Given the description of an element on the screen output the (x, y) to click on. 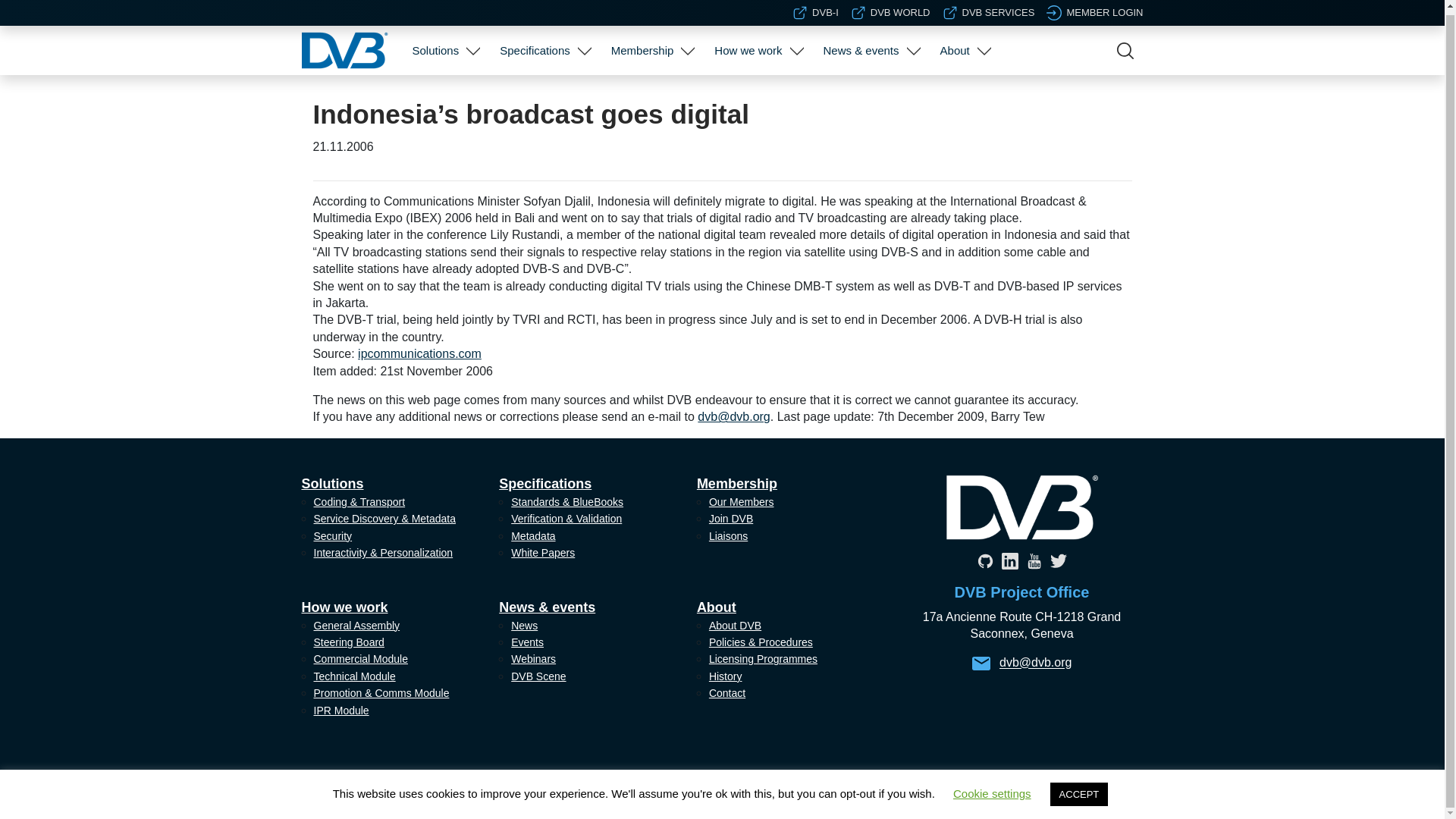
DVB WORLD (890, 8)
General Assembly (756, 92)
Solutions (435, 46)
Github Profile (984, 560)
DVB-I (815, 8)
News (869, 92)
About DVB (962, 92)
Specifications (534, 46)
Membership (642, 46)
YouTube Profile (1033, 560)
